Given the description of an element on the screen output the (x, y) to click on. 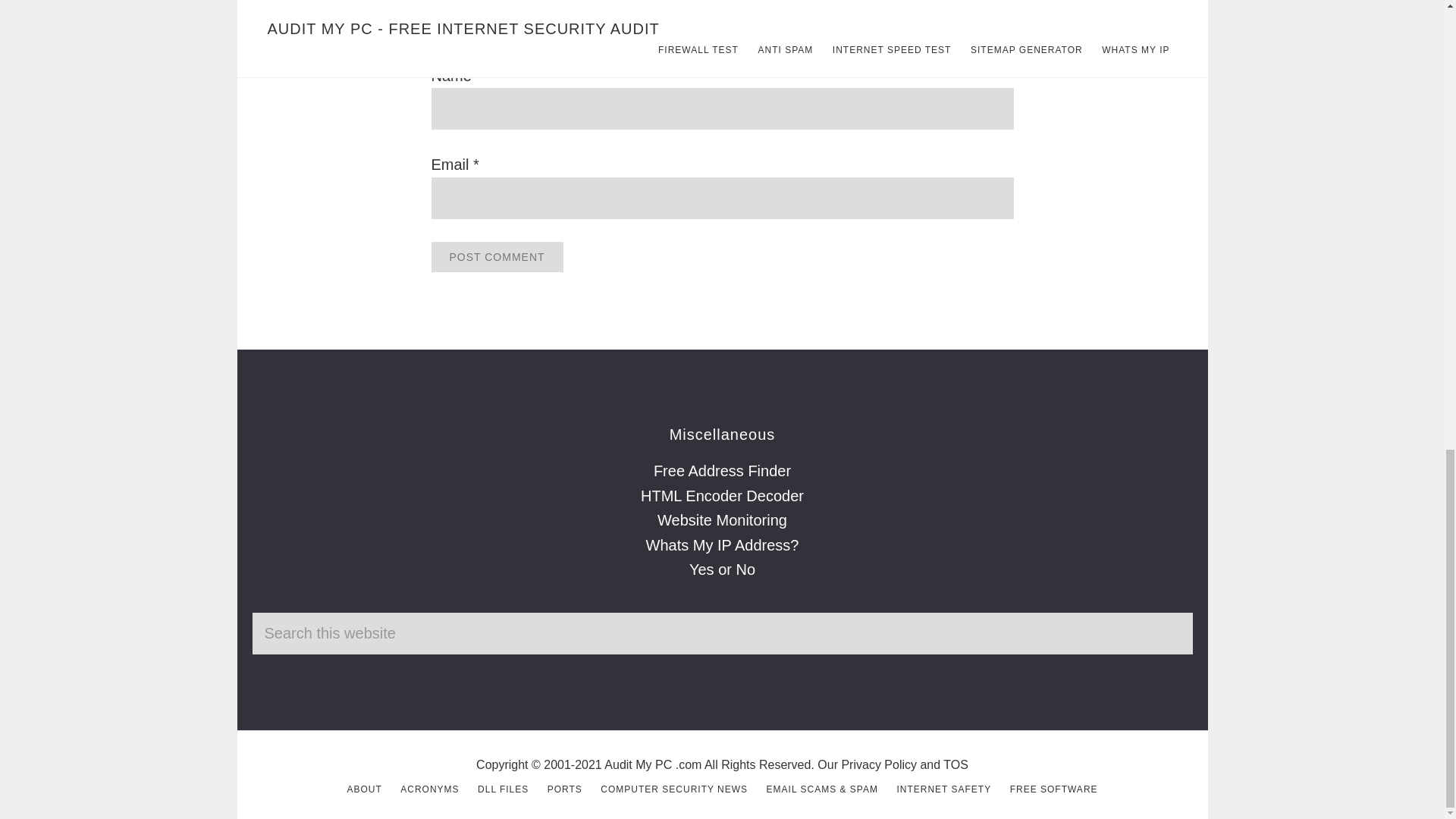
Yes or No (721, 569)
COMPUTER SECURITY NEWS (673, 788)
AuditMyPC.com Terms of Service (955, 764)
Free Address Finder (721, 470)
Privacy Policy (879, 764)
TOS (955, 764)
PORTS (564, 788)
AuditMyPC.com Privacy Statement (879, 764)
Post Comment (496, 256)
Whats My IP Address? (722, 545)
ACRONYMS (429, 788)
Post Comment (496, 256)
Website Monitoring (722, 519)
